Given the description of an element on the screen output the (x, y) to click on. 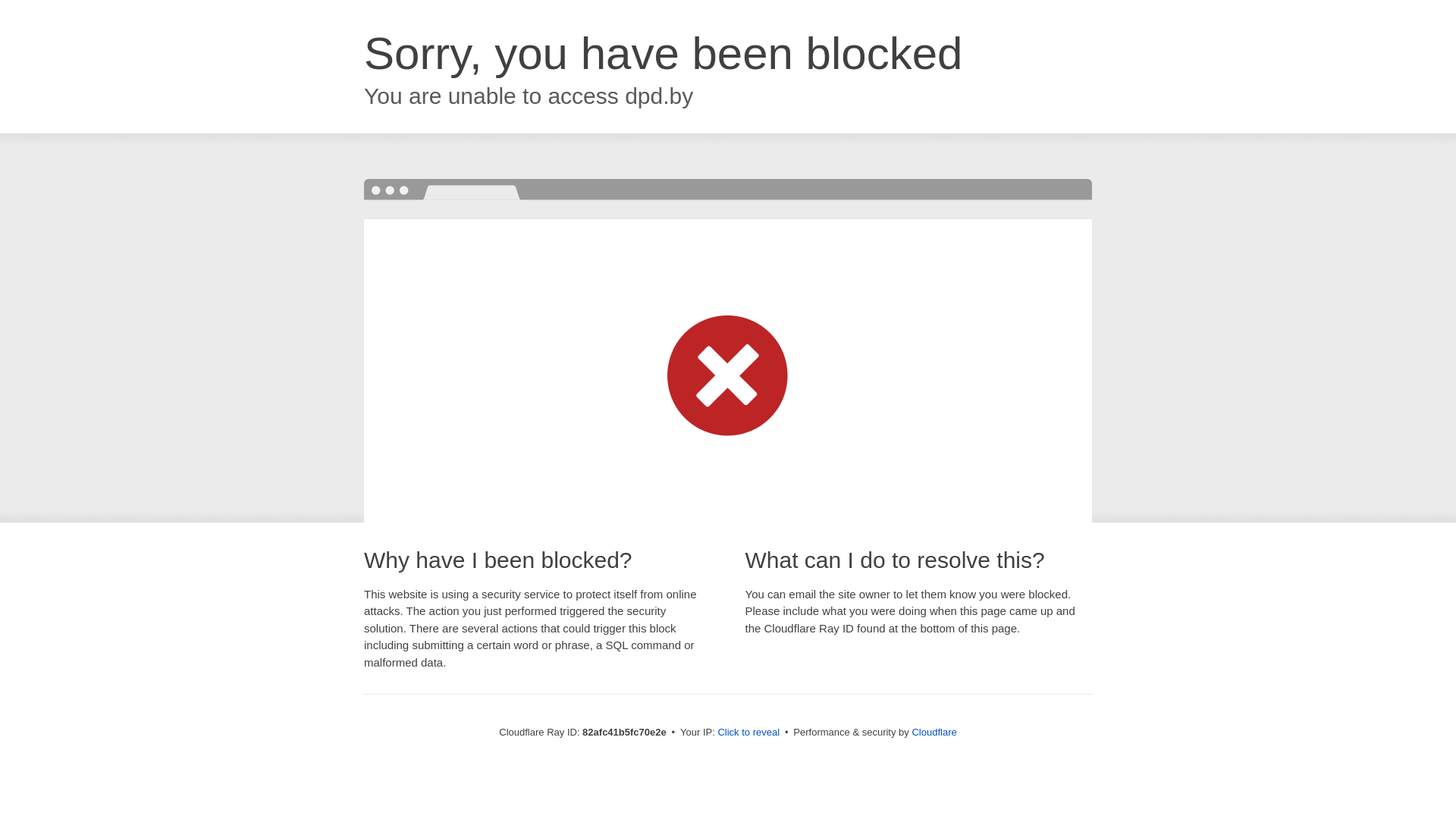
Click to reveal Element type: text (748, 732)
Cloudflare Element type: text (933, 731)
